Given the description of an element on the screen output the (x, y) to click on. 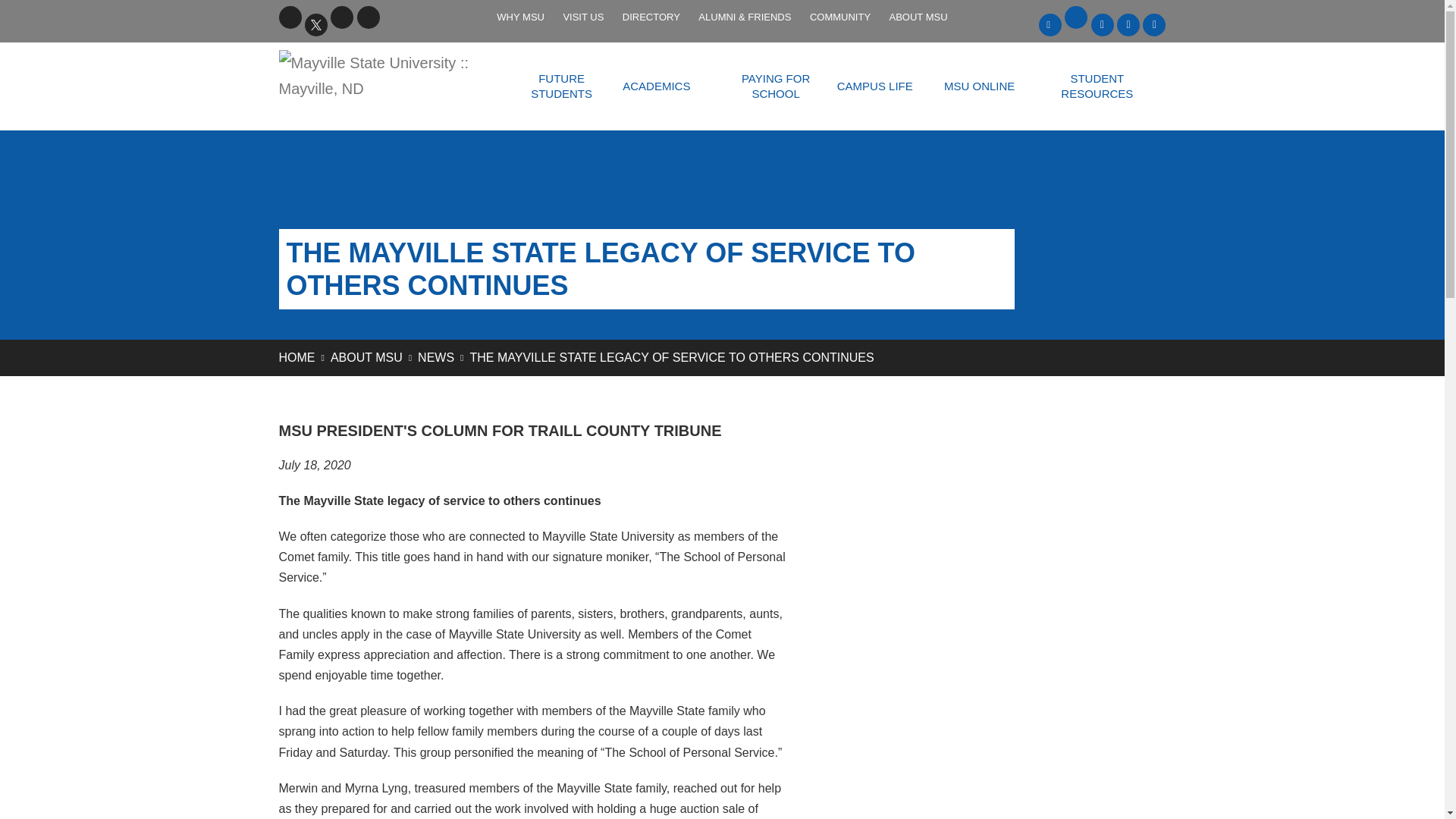
FUTURE STUDENTS (561, 85)
The Mayville State legacy of service to others continues (672, 357)
Mayville State University :: Mayville, ND (386, 75)
BlackBoard (1050, 24)
VISIT US (582, 16)
Sharepoint (1101, 24)
Instagram (368, 16)
COMMUNITY (839, 16)
DIRECTORY (650, 16)
About MSU (366, 357)
